Given the description of an element on the screen output the (x, y) to click on. 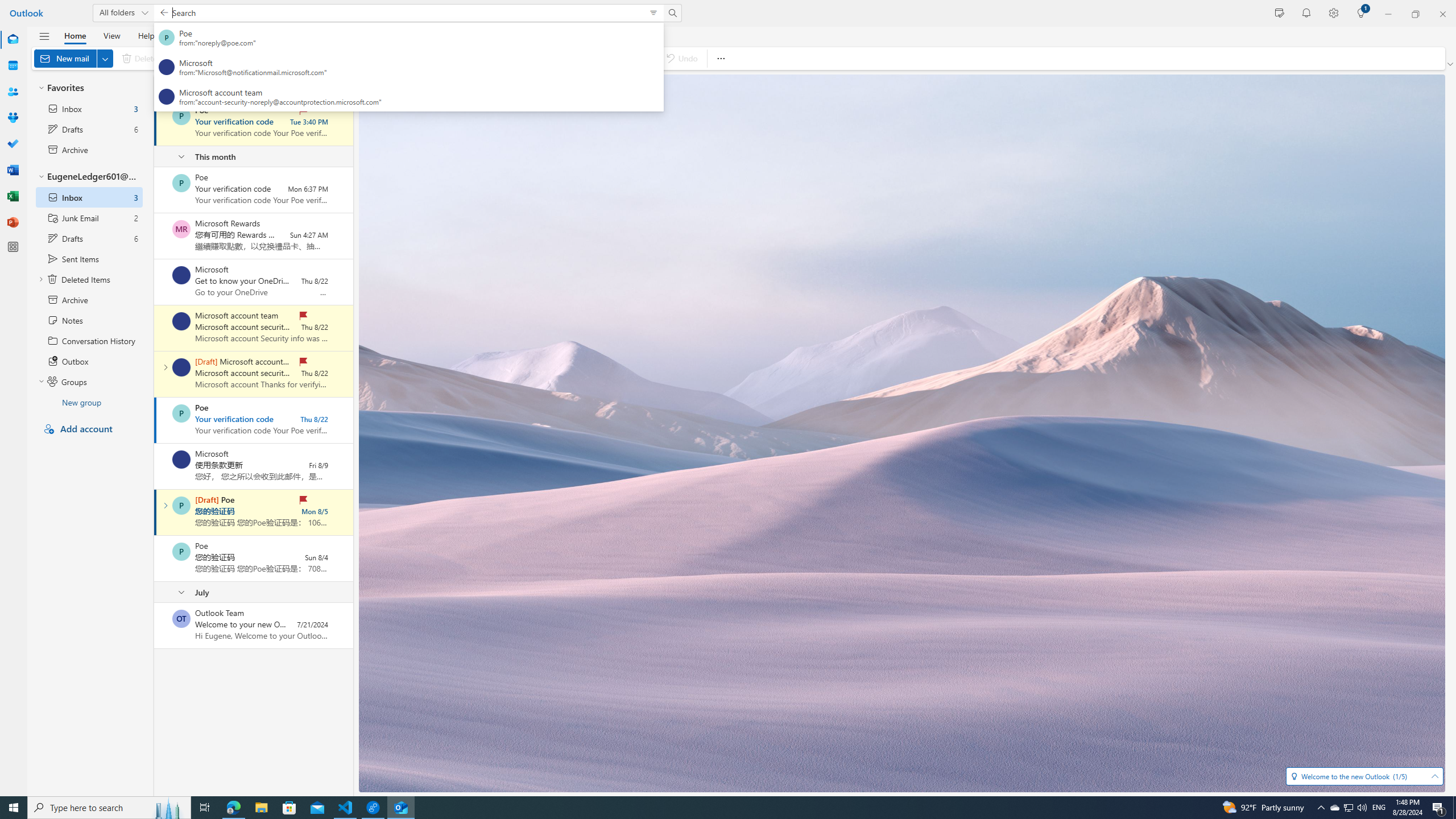
Calendar (12, 65)
Mail (12, 39)
Ribbon display options (1450, 63)
Home (74, 35)
Microsoft (180, 459)
Exit search (164, 12)
Move to (306, 58)
Outlook Team (180, 618)
Flag / Unflag (527, 58)
Groups (12, 118)
Excel (12, 196)
Search for email, meetings, files and more. (405, 12)
Reply all (372, 58)
Microsoft Rewards (180, 229)
